Given the description of an element on the screen output the (x, y) to click on. 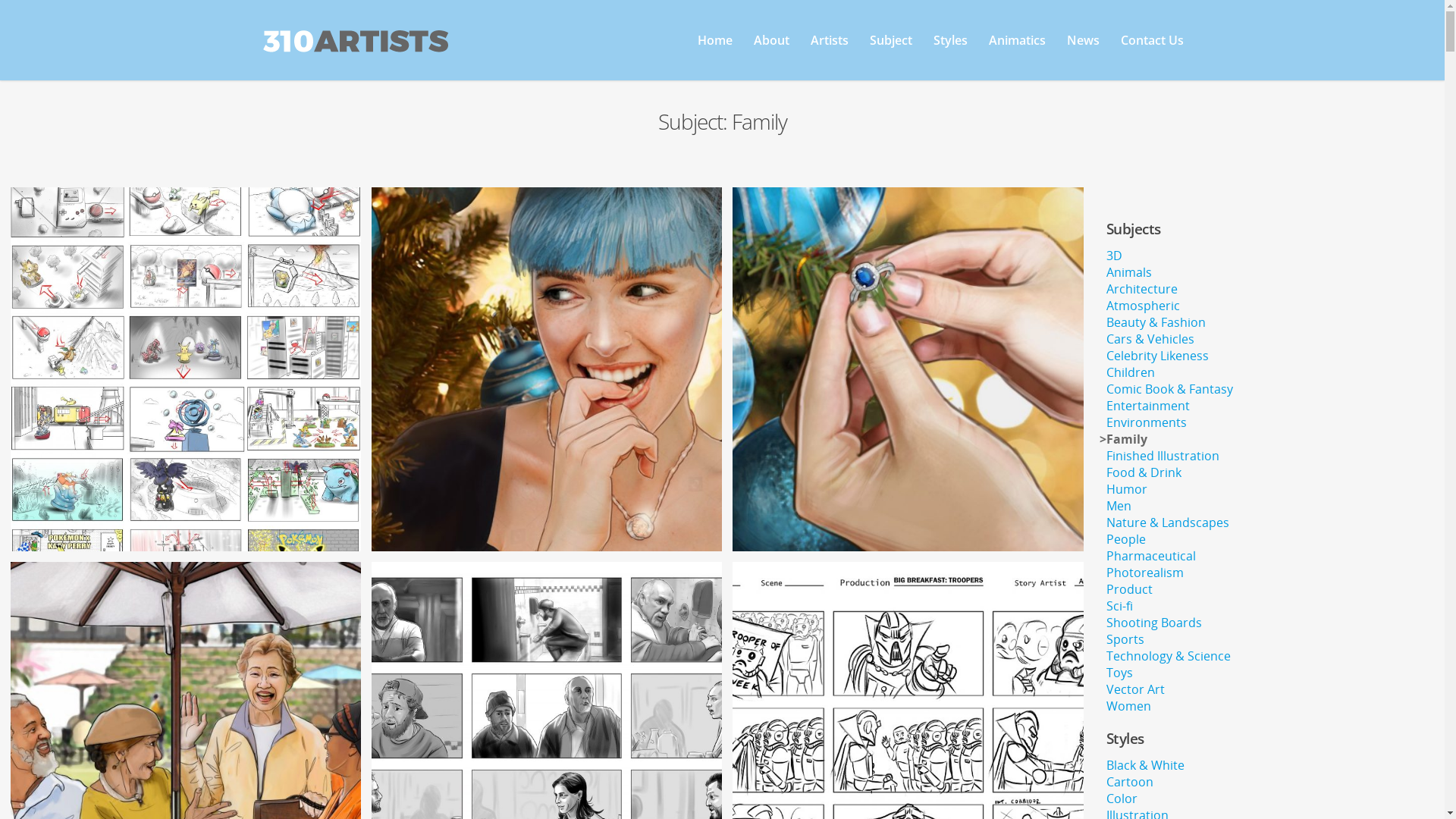
Animals Element type: text (1128, 271)
Environments Element type: text (1146, 422)
Humor Element type: text (1126, 488)
Home Element type: text (714, 50)
About Element type: text (771, 50)
People Element type: text (1125, 538)
Toys Element type: text (1119, 672)
Cars & Vehicles Element type: text (1150, 338)
Pharmaceutical Element type: text (1150, 555)
Cartoon Element type: text (1129, 781)
Vector Art Element type: text (1135, 688)
Children Element type: text (1130, 372)
News Element type: text (1083, 50)
CONTACT US Element type: text (798, 489)
Subject Element type: text (890, 50)
Celebrity Likeness Element type: text (1157, 355)
Photorealism Element type: text (1144, 572)
Contact Us Element type: text (1151, 50)
Sports Element type: text (1125, 638)
mary@310artists.com Element type: text (1083, 654)
Atmospheric Element type: text (1142, 305)
Architecture Element type: text (1141, 288)
Technology & Science Element type: text (1168, 655)
3D Element type: text (1114, 255)
Food & Drink Element type: text (1143, 472)
Beauty & Fashion Element type: text (1155, 321)
LinkedIn Element type: text (601, 654)
Artists Element type: text (829, 50)
YourShine_05_Final Element type: text (907, 369)
Black & White Element type: text (1145, 764)
Styles Element type: text (950, 50)
Shooting Boards Element type: text (1153, 622)
Sci-fi Element type: text (1119, 605)
Women Element type: text (1128, 705)
Animatics Element type: text (1017, 50)
Pokemon 25th boards Element type: text (185, 369)
Product Element type: text (1129, 588)
Entertainment Element type: text (1147, 405)
Comic Book & Fantasy Element type: text (1169, 388)
Facebook Element type: text (601, 631)
Privacy Policy Element type: text (361, 654)
Men Element type: text (1118, 505)
Terms & Conditions Element type: text (361, 631)
YourShine_02_Final Element type: text (546, 369)
Nature & Landscapes Element type: text (1167, 522)
Finished Illustration Element type: text (1162, 455)
Color Element type: text (1121, 798)
